Given the description of an element on the screen output the (x, y) to click on. 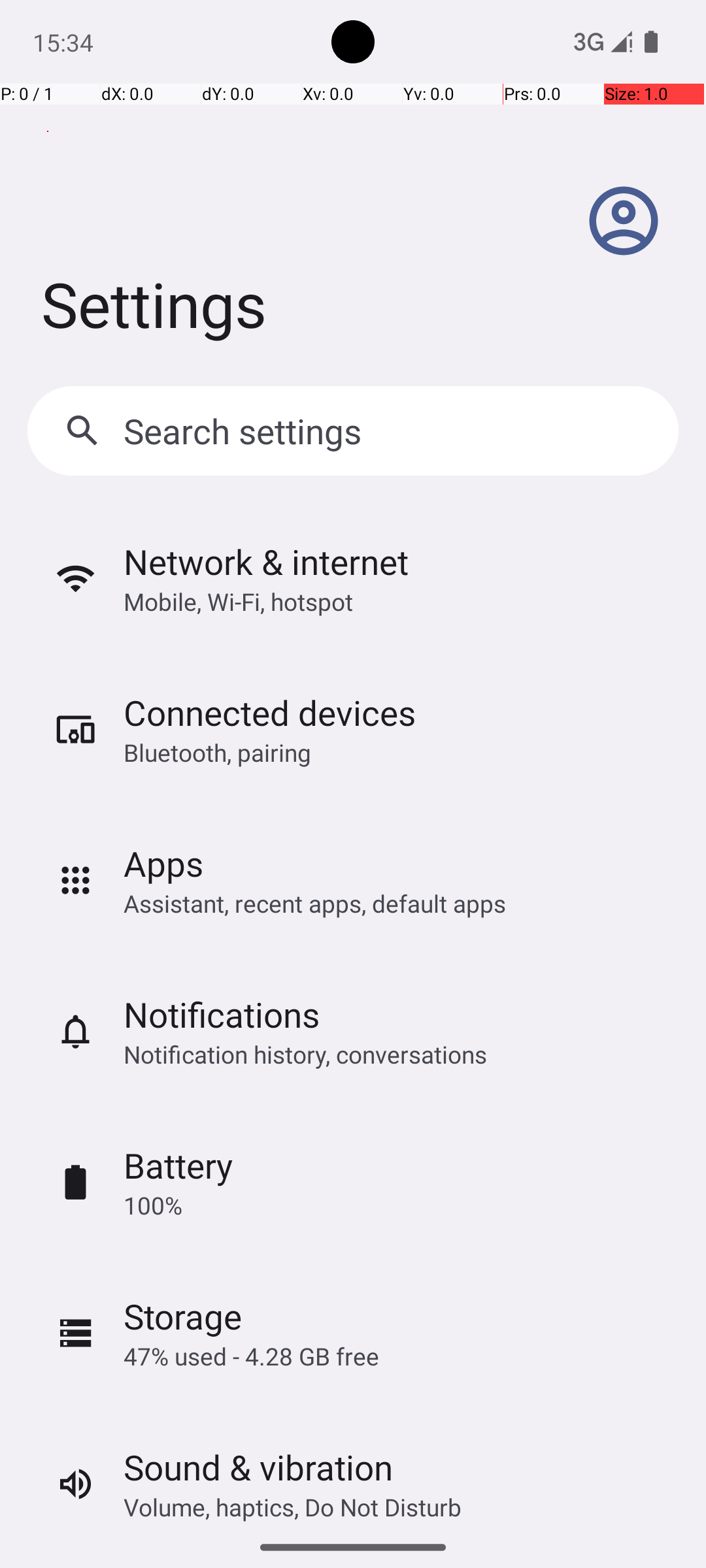
47% used - 4.28 GB free Element type: android.widget.TextView (251, 1355)
